Given the description of an element on the screen output the (x, y) to click on. 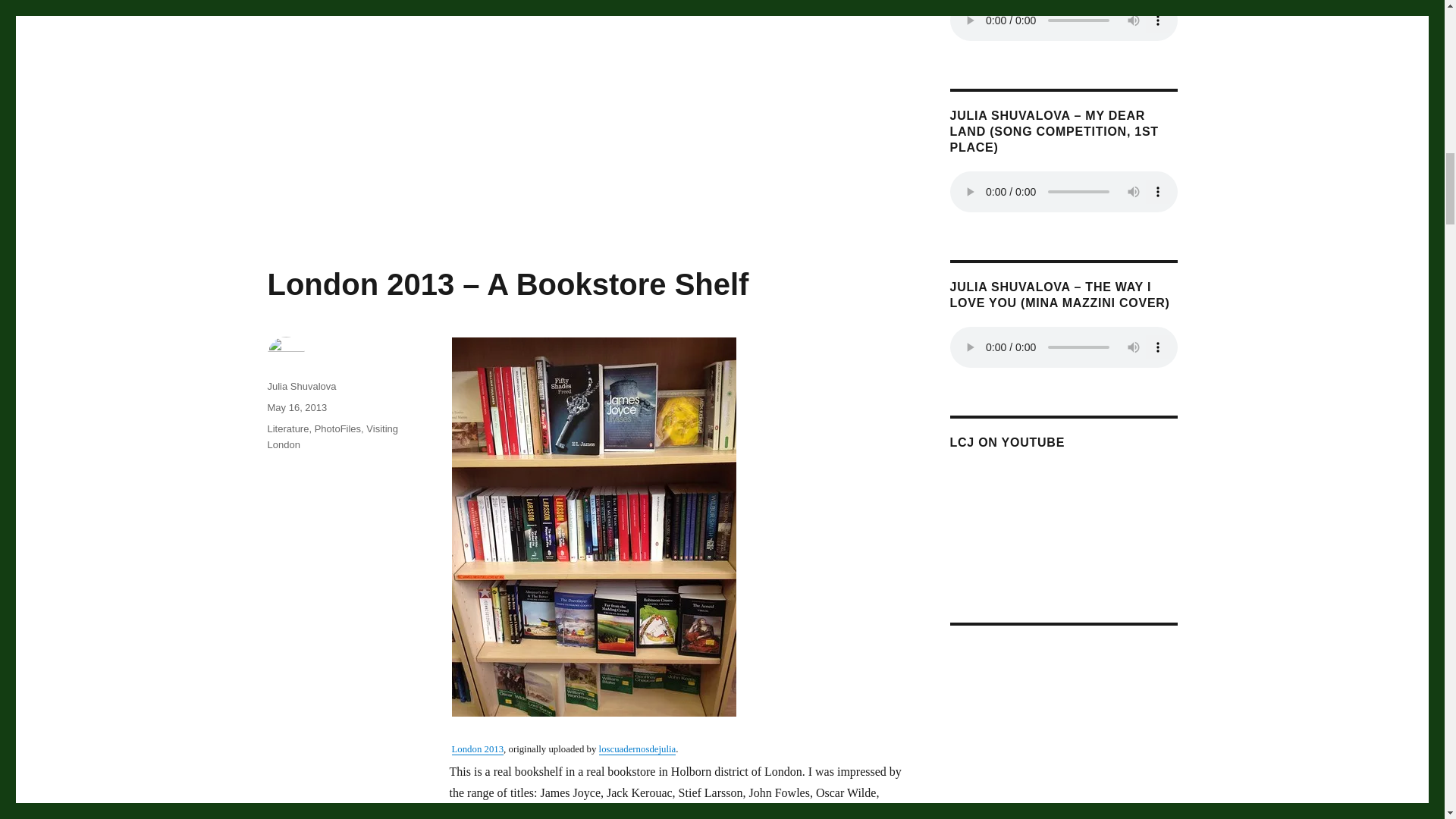
May 16, 2013 (296, 407)
loscuadernosdejulia (637, 748)
London 2013 (477, 748)
PhotoFiles (337, 428)
Julia Shuvalova (301, 386)
Visiting London (331, 436)
Literature (287, 428)
